Given the description of an element on the screen output the (x, y) to click on. 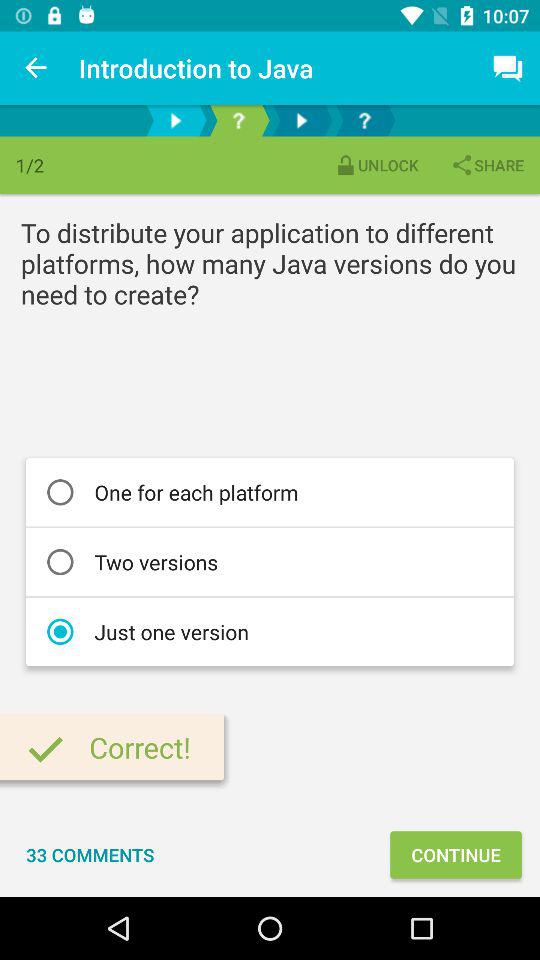
select the icon next to unlock item (487, 164)
